Given the description of an element on the screen output the (x, y) to click on. 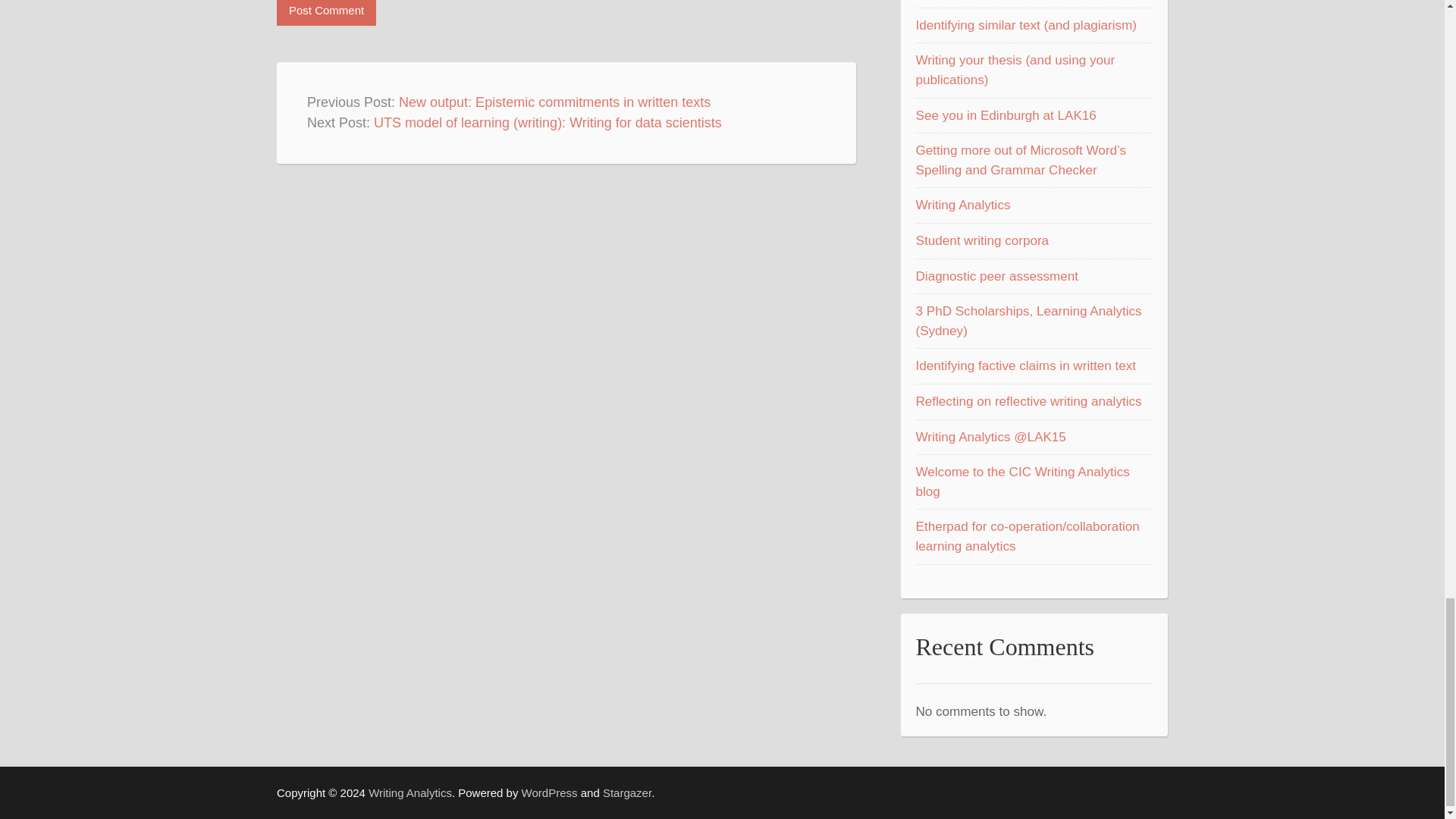
New output: Epistemic commitments in written texts (554, 102)
Post Comment (325, 12)
Post Comment (325, 12)
